Given the description of an element on the screen output the (x, y) to click on. 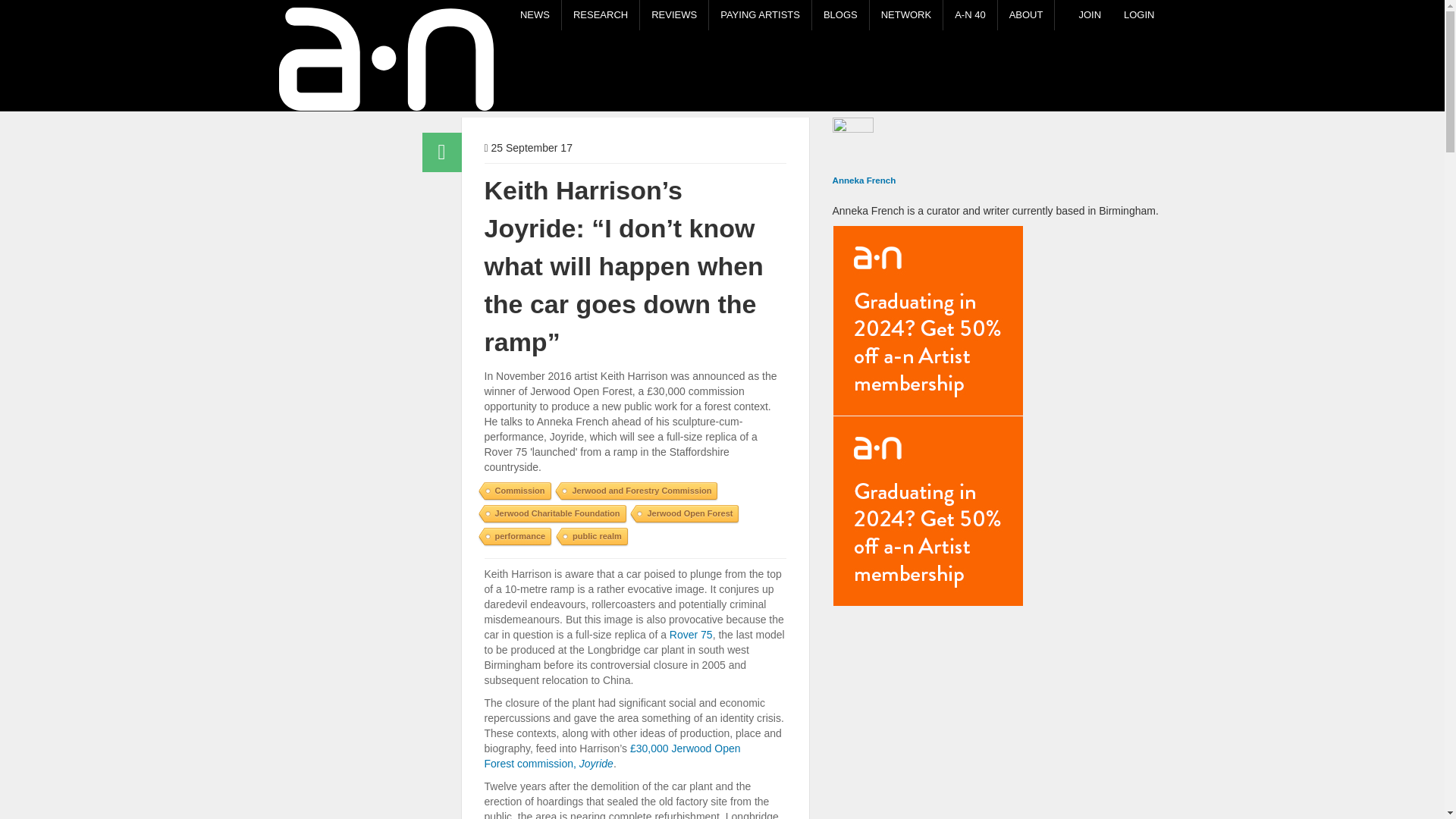
NEWS (534, 15)
REVIEWS (673, 15)
BLOGS (840, 15)
ABOUT (1025, 15)
PAYING ARTISTS (759, 15)
About (1025, 15)
News stories (534, 15)
A-N 40 (969, 15)
NEWS (342, 88)
Blogs (840, 15)
